Given the description of an element on the screen output the (x, y) to click on. 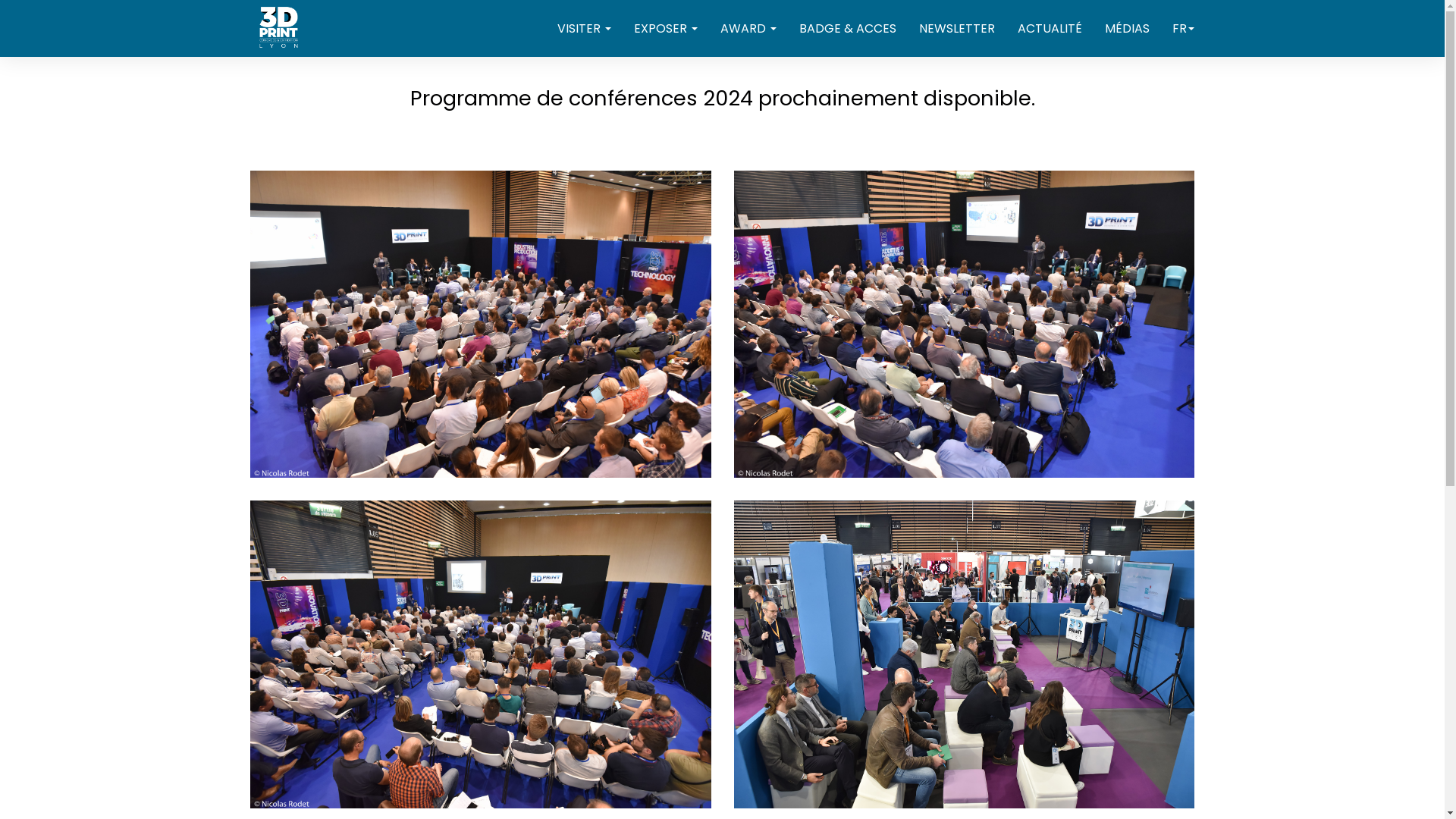
AWARD Element type: text (748, 28)
BADGE & ACCES Element type: text (847, 28)
FR Element type: text (1183, 28)
NEWSLETTER Element type: text (956, 28)
VISITER Element type: text (584, 28)
EXPOSER Element type: text (665, 28)
